Given the description of an element on the screen output the (x, y) to click on. 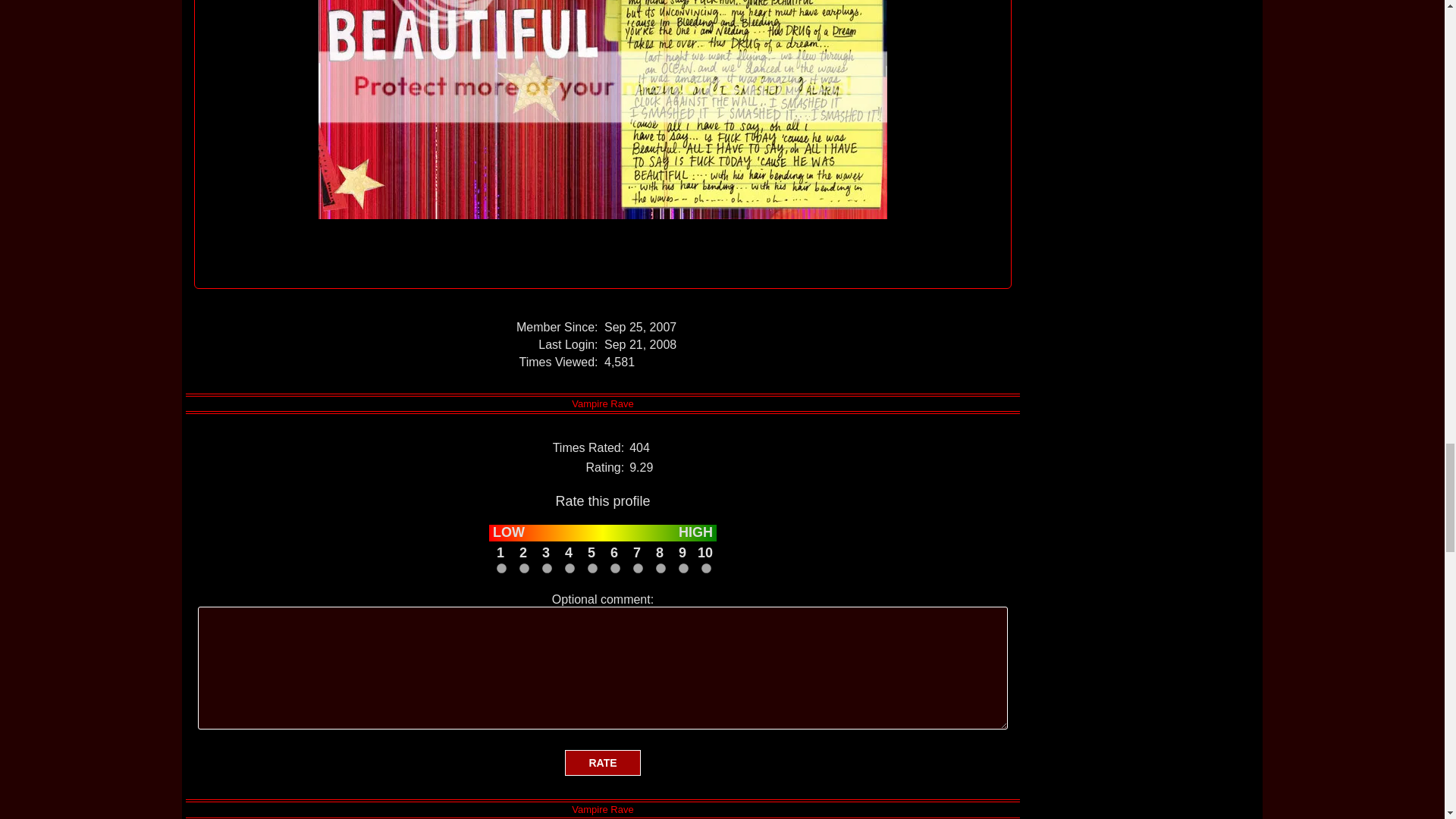
 RATE  (602, 762)
8 (660, 568)
6 (615, 568)
7 (636, 568)
1 (500, 568)
10 (705, 568)
4 (568, 568)
5 (591, 568)
2 (523, 568)
3 (546, 568)
9 (682, 568)
